Given the description of an element on the screen output the (x, y) to click on. 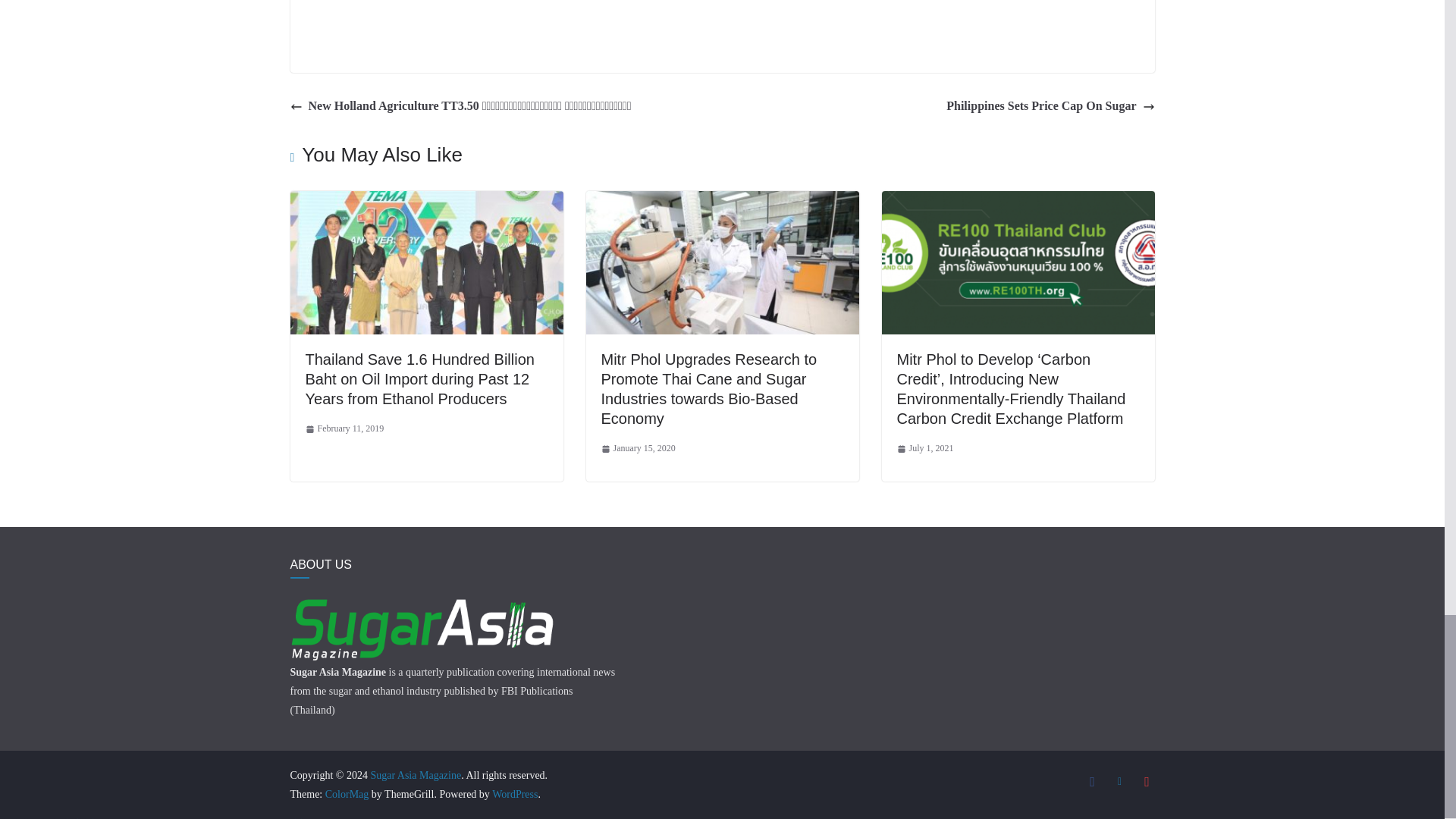
6:38 AM (344, 428)
5:01 PM (924, 448)
8:50 AM (637, 448)
